Given the description of an element on the screen output the (x, y) to click on. 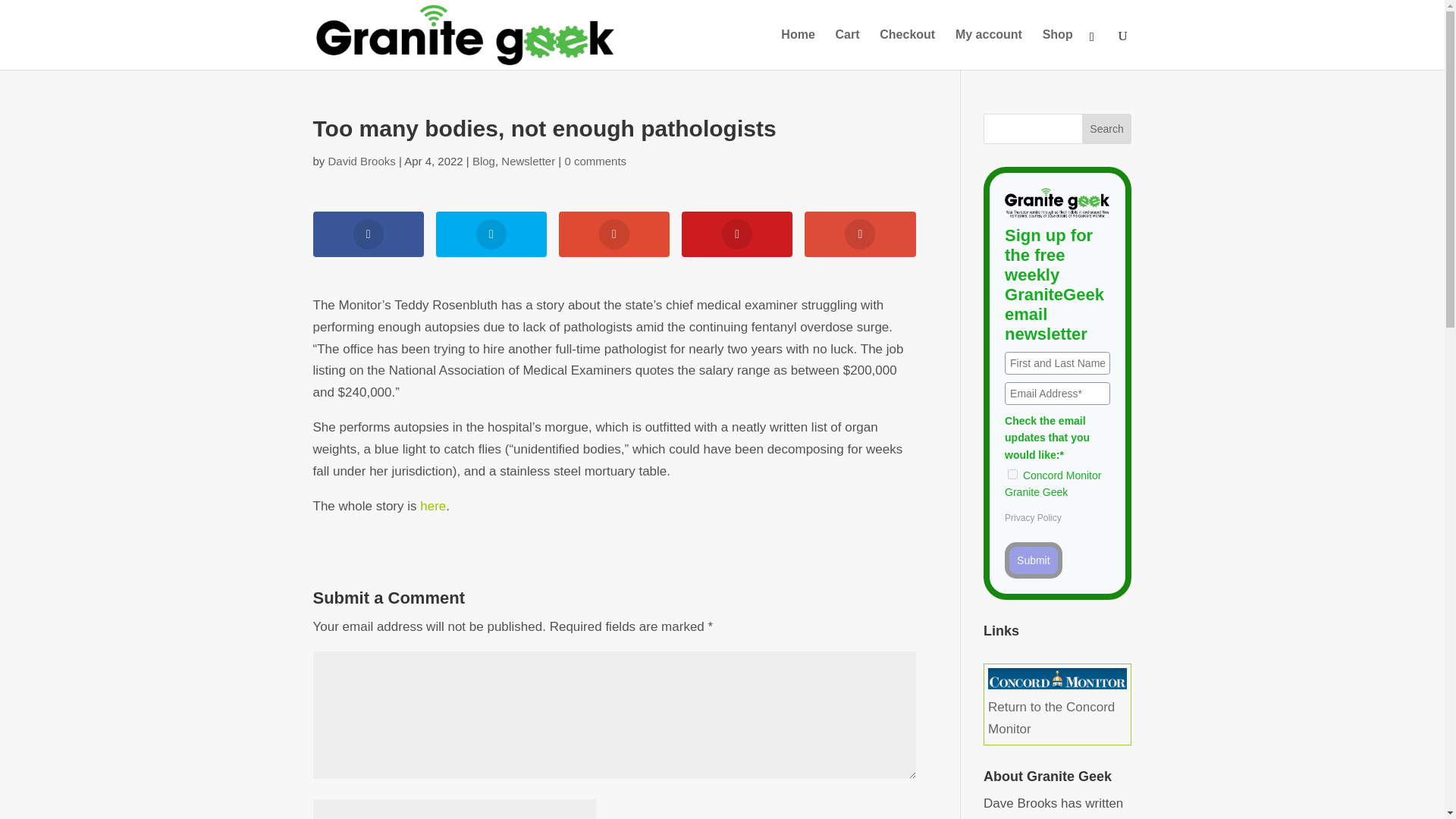
25 (1012, 474)
here (432, 505)
Checkout (906, 49)
Search (1106, 128)
Posts by David Brooks (362, 160)
Submit (1033, 560)
Search (1106, 128)
Privacy Policy (1032, 517)
0 comments (595, 160)
Newsletter (527, 160)
Blog (483, 160)
Return to the Concord Monitor (1057, 707)
My account (988, 49)
David Brooks (362, 160)
